Given the description of an element on the screen output the (x, y) to click on. 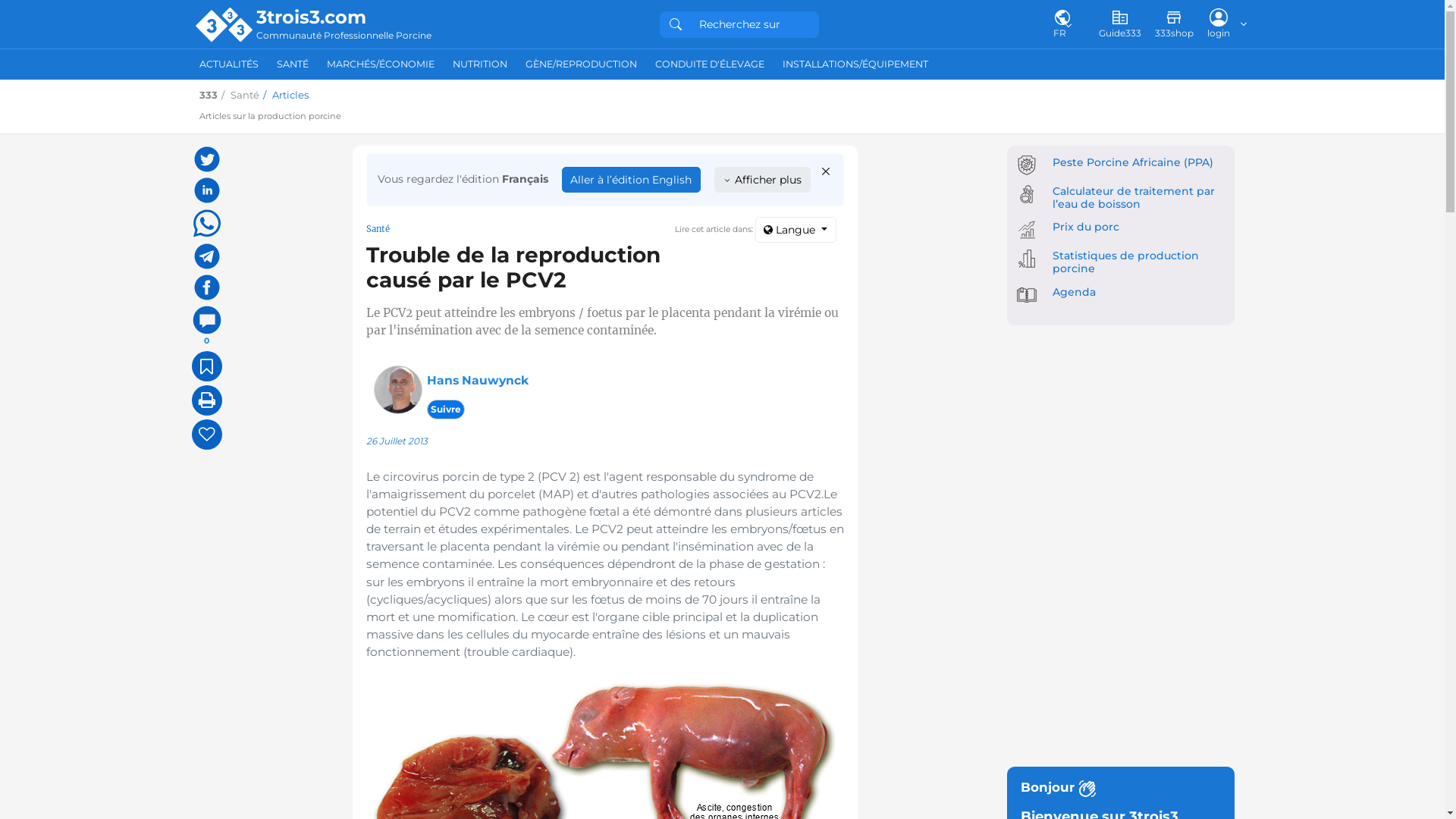
Prix du porc Element type: text (1085, 226)
Imprimer Element type: hover (206, 400)
Question de la semaine Element type: text (705, 596)
Bonjour Element type: text (1120, 788)
Boutique Element type: text (1003, 612)
Que pensez-vous de... Element type: text (700, 660)
Afficher plus Element type: text (762, 179)
Hans Nauwynck Element type: text (476, 380)
Suivre Element type: text (445, 409)
Termes et conditions Element type: text (531, 596)
Agenda Element type: text (1073, 291)
0 Element type: text (206, 325)
login Element type: text (1218, 24)
3trois3.com Element type: text (346, 641)
Auteurs Element type: text (665, 612)
Humour Element type: text (667, 628)
Statistiques de production porcine Element type: text (1125, 261)
Polski Element type: text (828, 708)
FR Element type: text (1061, 24)
Qui sommes-nous? Element type: text (528, 580)
Deutsch Element type: text (834, 580)
Clients Element type: text (497, 692)
Contact Element type: text (499, 676)
333shop Element type: text (1173, 24)
Langue Element type: text (795, 229)
Ajouter aux Favoris Element type: hover (206, 366)
Guide333 Element type: text (1119, 24)
English Element type: text (832, 596)
Italiano Element type: text (832, 692)
3trois3.com Element type: text (343, 17)
Peste Porcine Africaine (PPA) Element type: text (1132, 162)
La newsletter de 3trois3 Element type: text (1038, 580)
J'aime Element type: hover (206, 434)
NUTRITION Element type: text (479, 64)
Photo de la semaine Element type: text (697, 580)
